Given the description of an element on the screen output the (x, y) to click on. 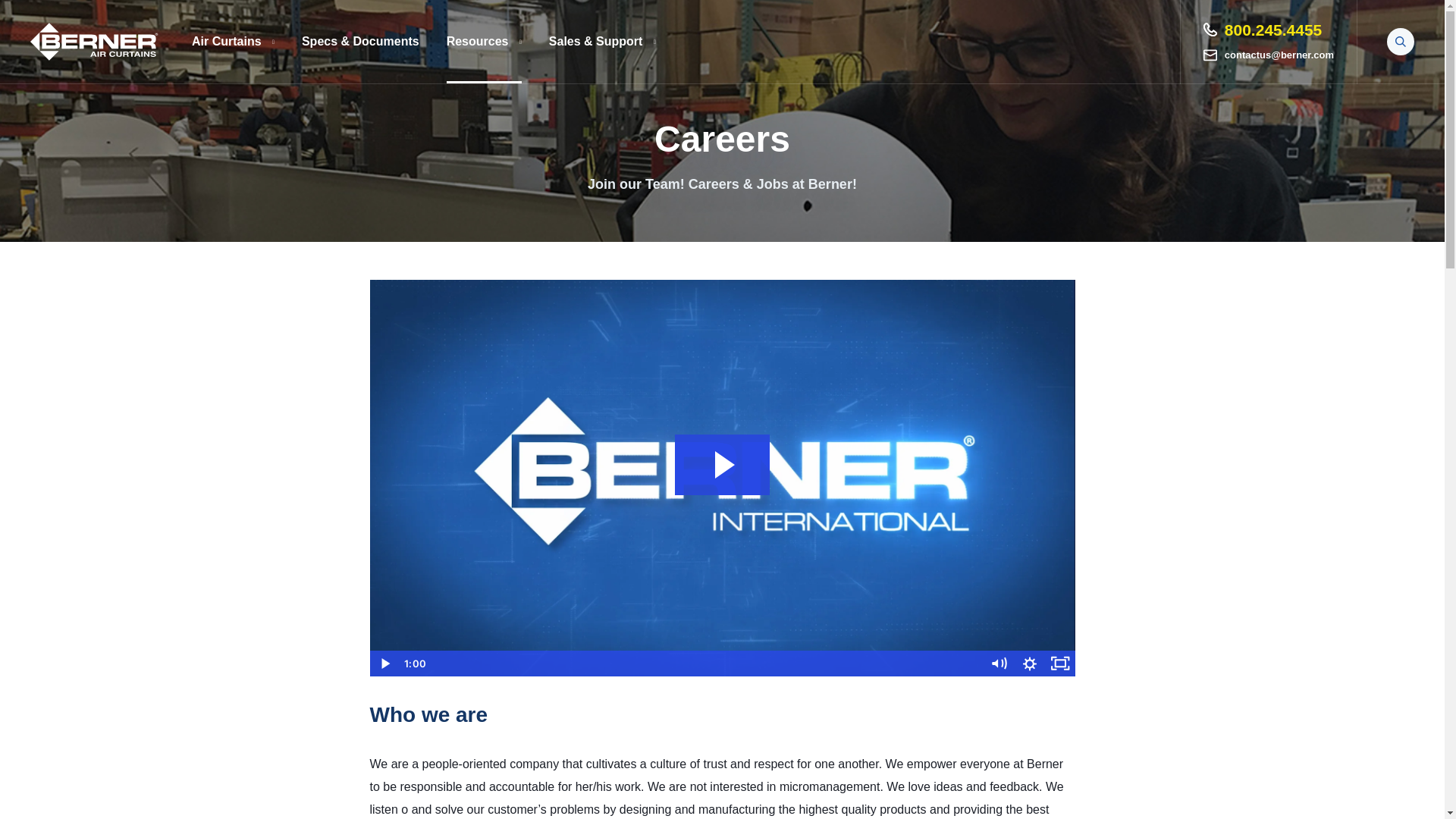
Air Curtains (233, 41)
800.245.4455 (1263, 30)
Resources (483, 41)
Show settings menu (1029, 663)
